Given the description of an element on the screen output the (x, y) to click on. 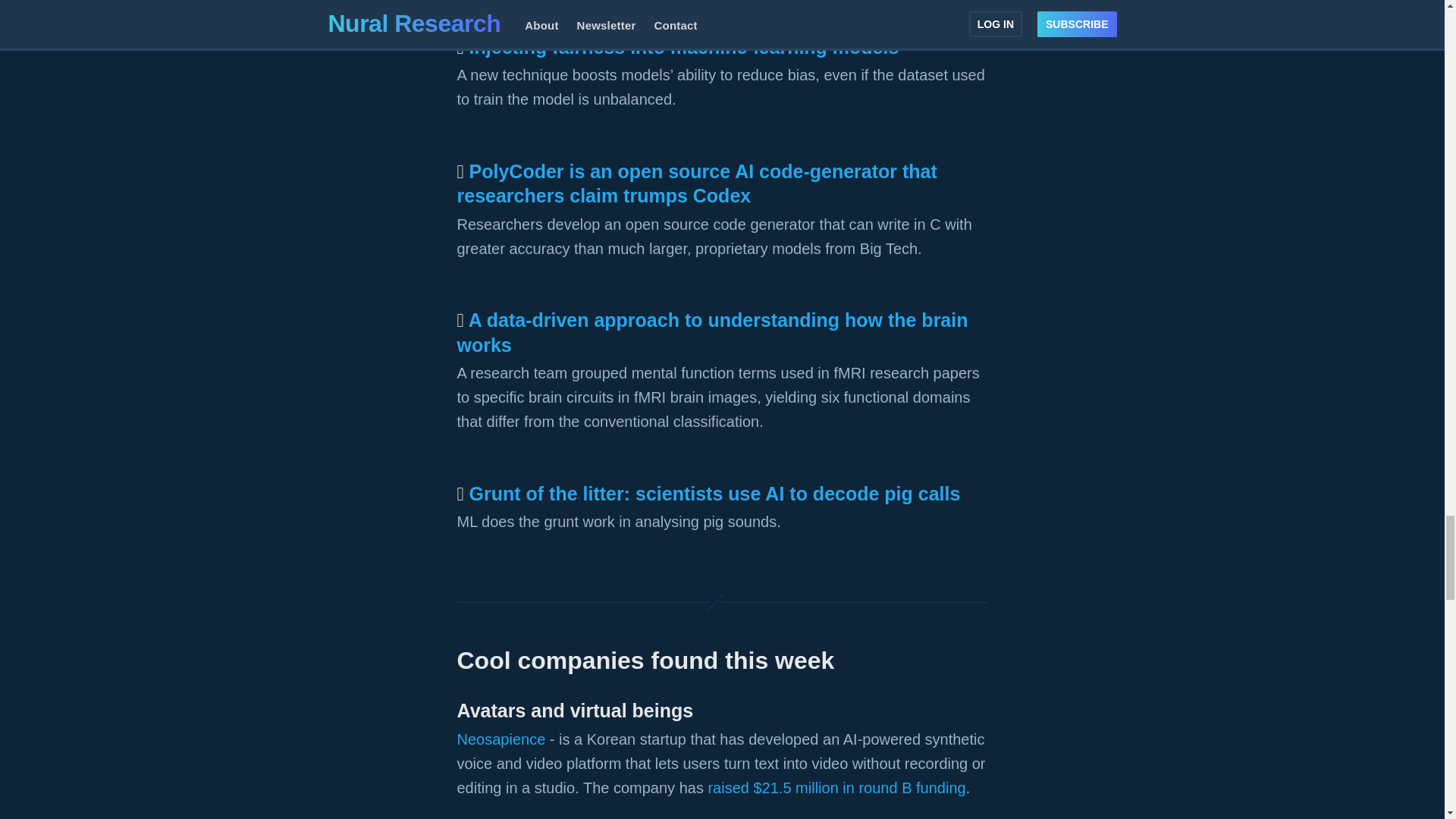
A data-driven approach to understanding how the brain works (712, 332)
Grunt of the litter: scientists use AI to decode pig calls (714, 493)
Neosapience (500, 739)
Injecting fairness into machine-learning models (683, 46)
